Given the description of an element on the screen output the (x, y) to click on. 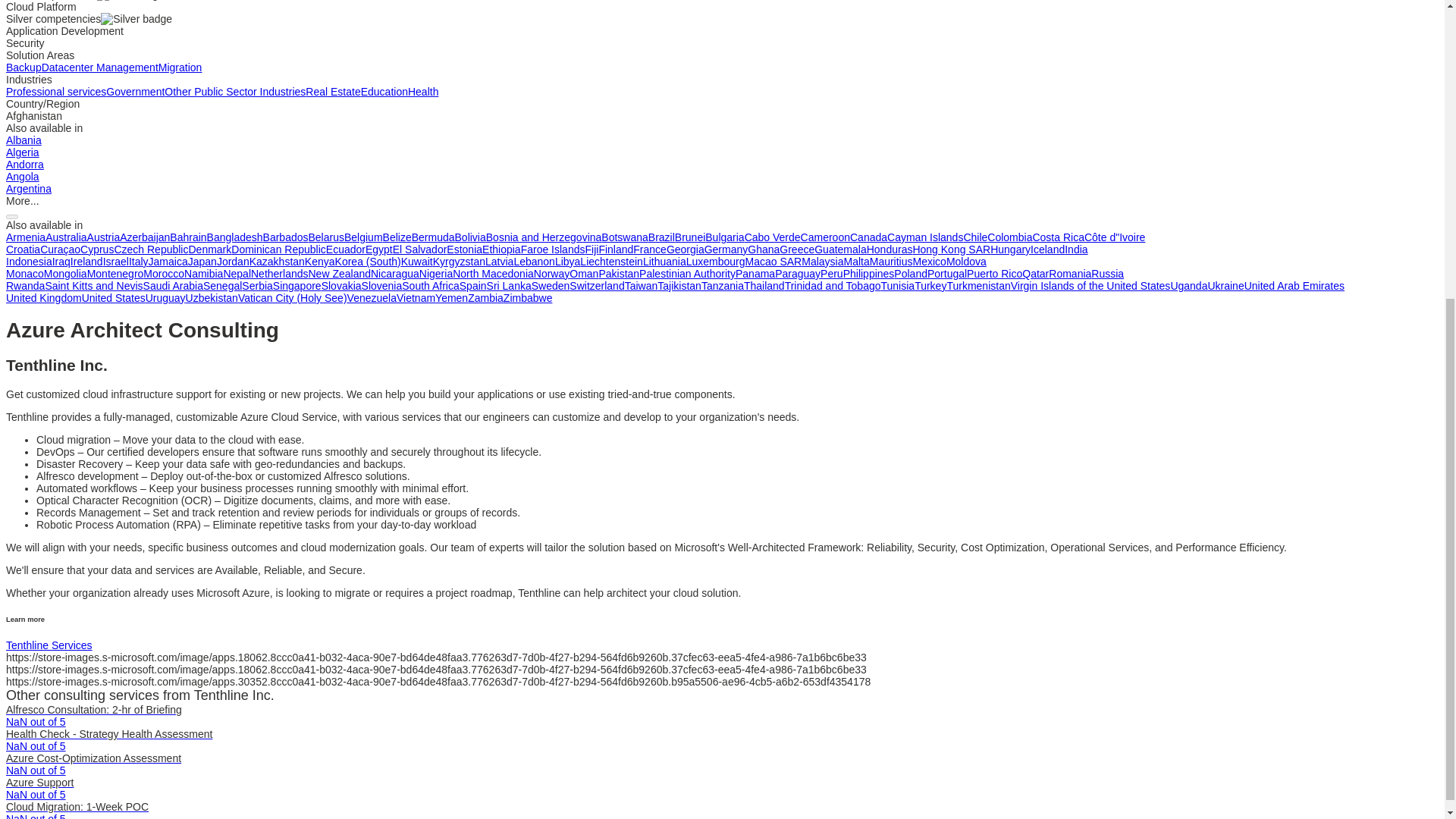
Andorra (24, 164)
Real Estate (332, 91)
Azure Support (39, 782)
Armenia (25, 236)
Azure Cost-Optimization Assessment (92, 758)
Other Public Sector Industries (234, 91)
Backup (23, 67)
Australia (65, 236)
Health (422, 91)
Angola (22, 176)
Government (135, 91)
Migration (180, 67)
Albania (23, 140)
Professional services (55, 91)
Algeria (22, 152)
